Given the description of an element on the screen output the (x, y) to click on. 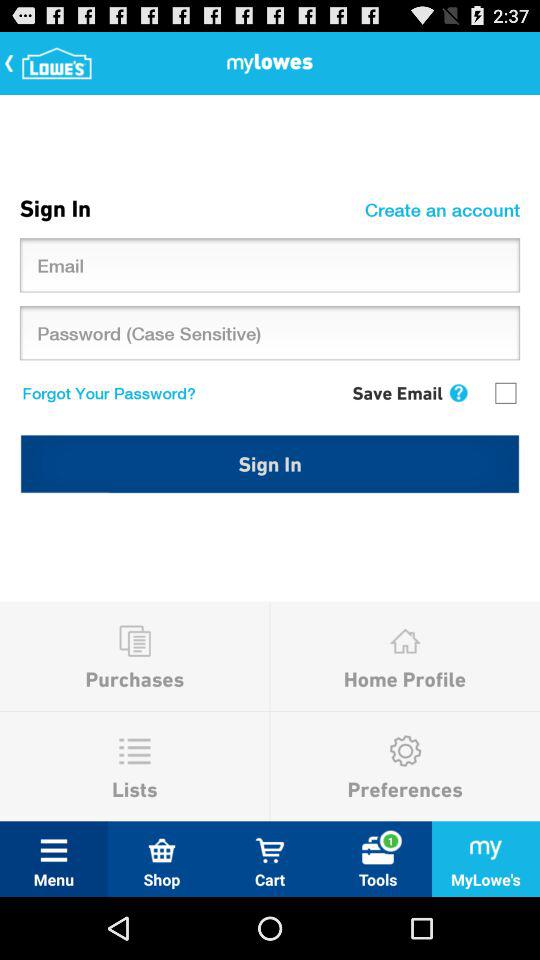
choose create an account at the top right corner (445, 209)
